Given the description of an element on the screen output the (x, y) to click on. 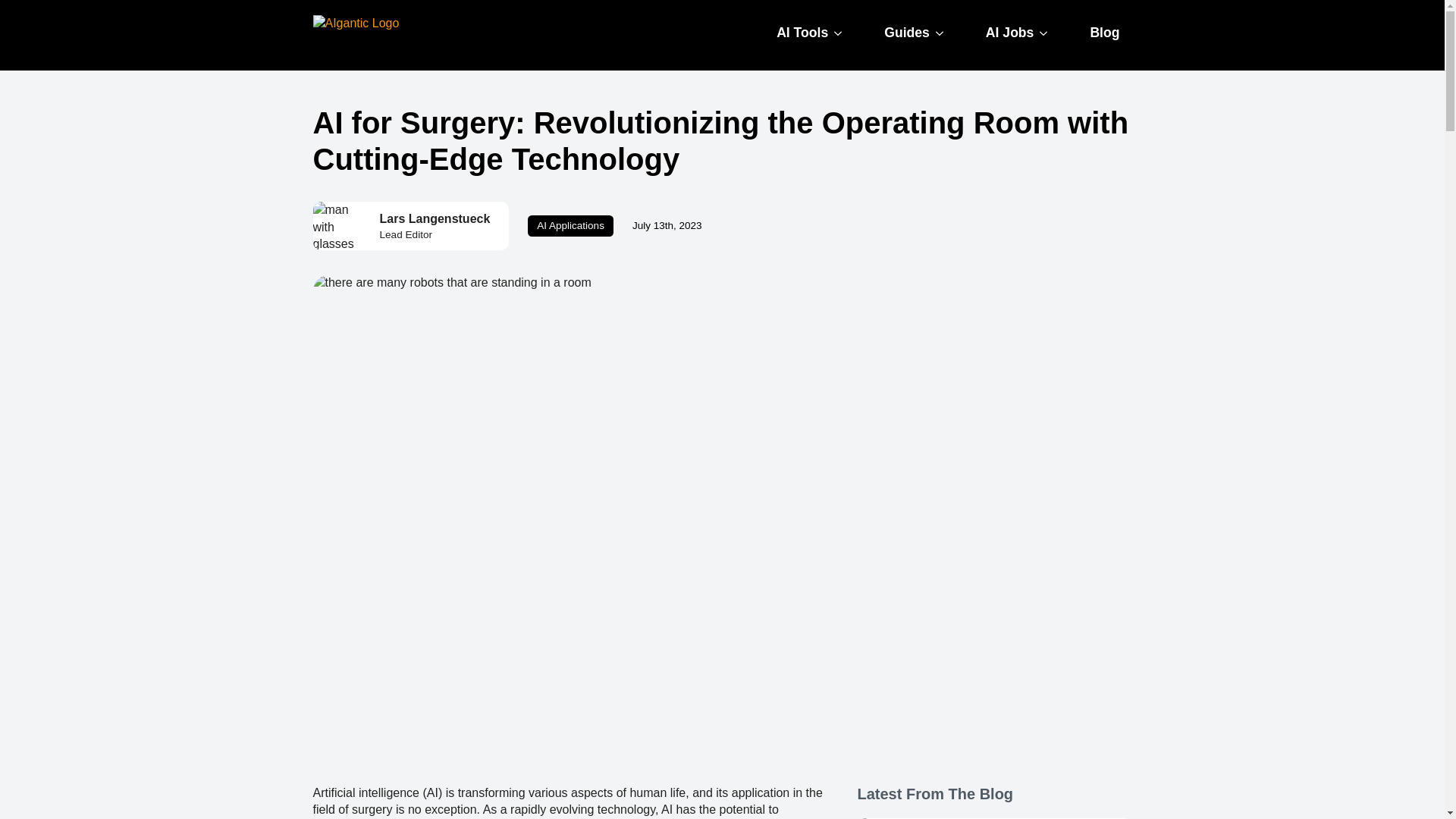
AI Tools (796, 32)
AI Jobs (1003, 32)
Blog (1104, 32)
Guides (901, 32)
